Given the description of an element on the screen output the (x, y) to click on. 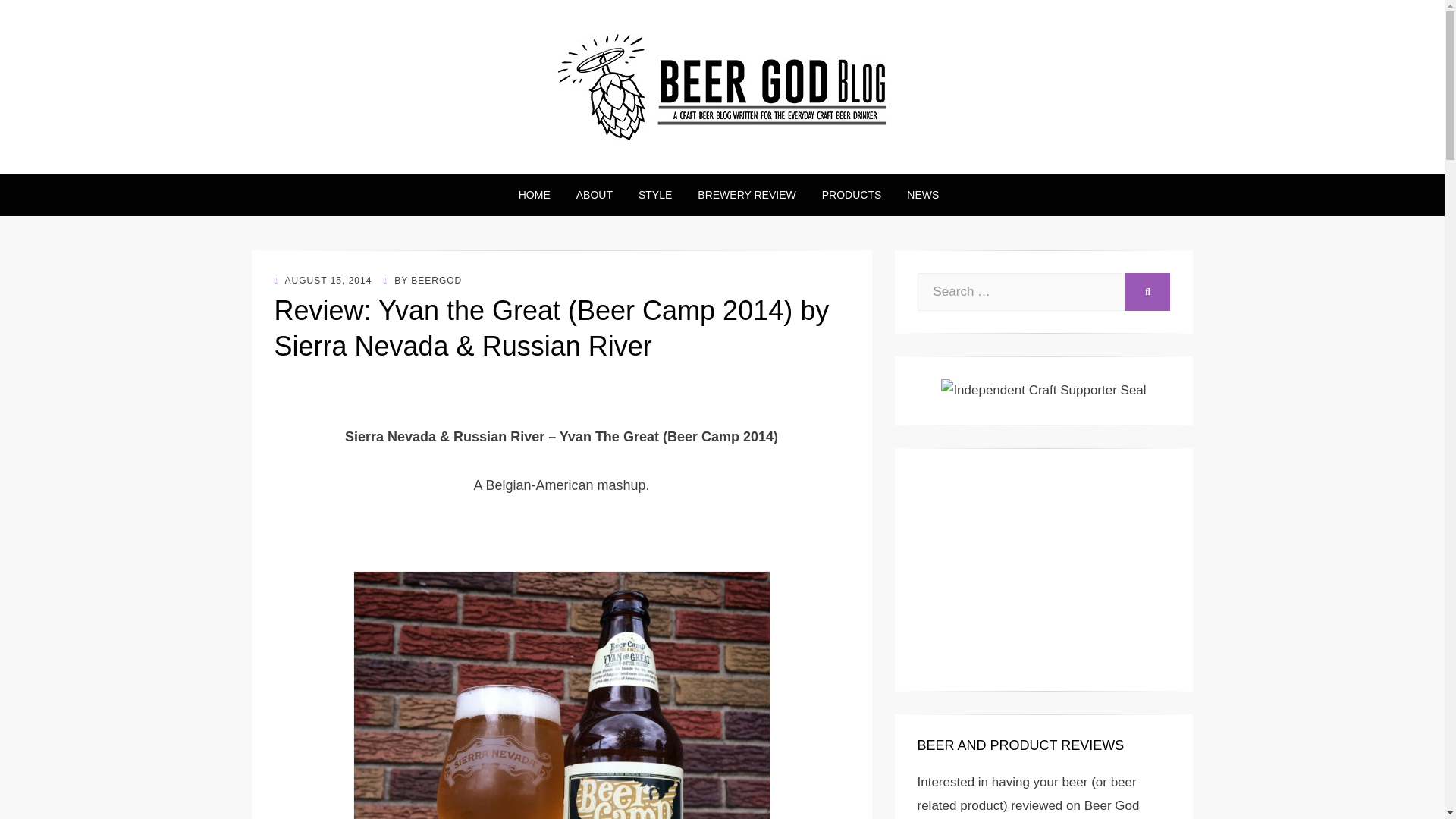
HOME (534, 194)
Beer God Blog (378, 163)
PRODUCTS (852, 194)
Beer God Blog (378, 163)
STYLE (655, 194)
ABOUT (594, 194)
Search for: (1021, 291)
BREWERY REVIEW (746, 194)
